Given the description of an element on the screen output the (x, y) to click on. 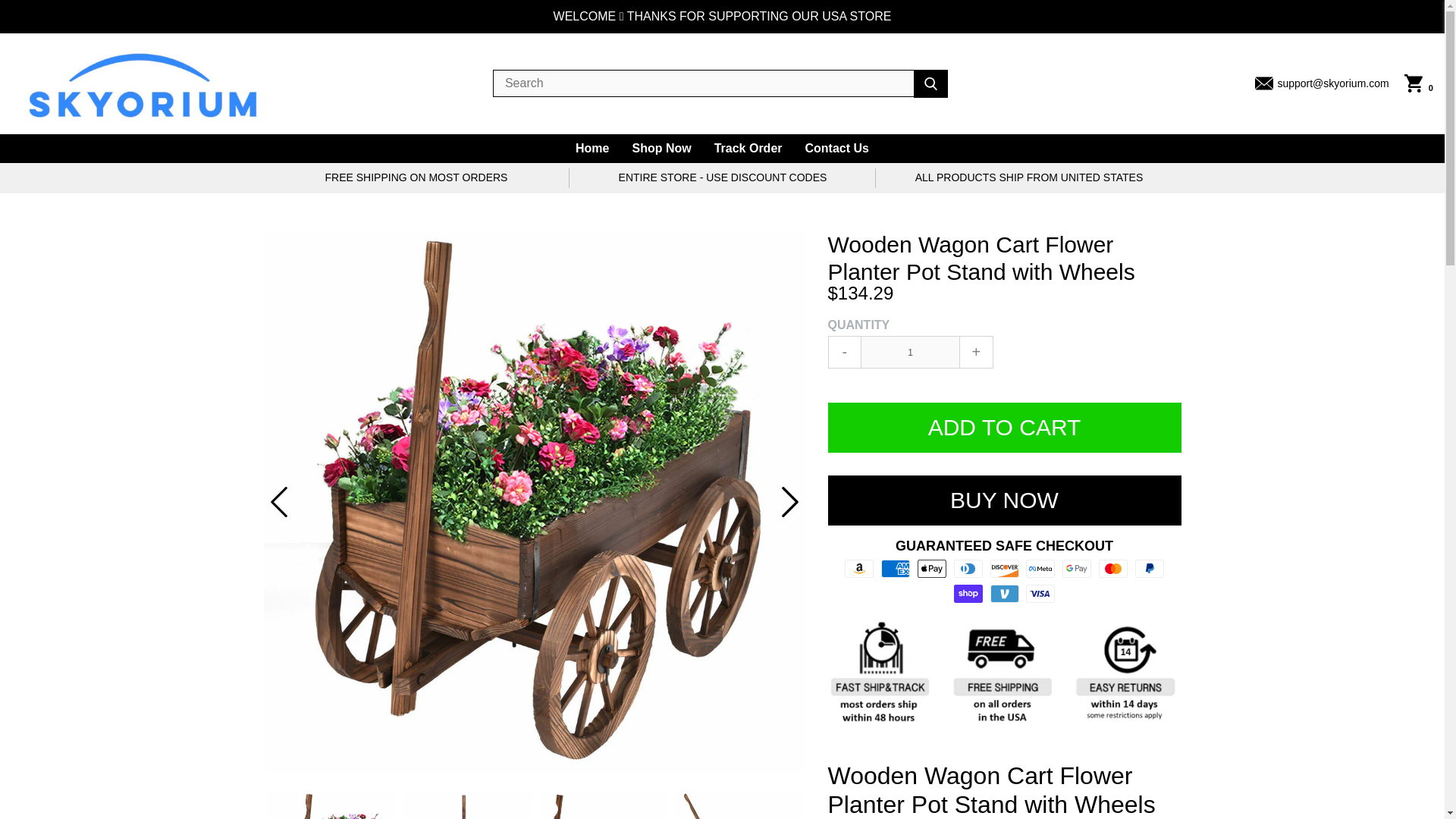
Shop Now (660, 148)
0 (1418, 83)
- (844, 351)
ADD TO CART (1004, 427)
Wooden Wagon Cart Flower Planter Pot Stand with Wheels (602, 805)
1 (909, 351)
BUY NOW (1004, 500)
Home (592, 148)
Contact Us (836, 148)
Wooden Wagon Cart Flower Planter Pot Stand with Wheels (739, 805)
Track Order (748, 148)
Wooden Wagon Cart Flower Planter Pot Stand with Wheels (467, 805)
Wooden Wagon Cart Flower Planter Pot Stand with Wheels (330, 805)
